Given the description of an element on the screen output the (x, y) to click on. 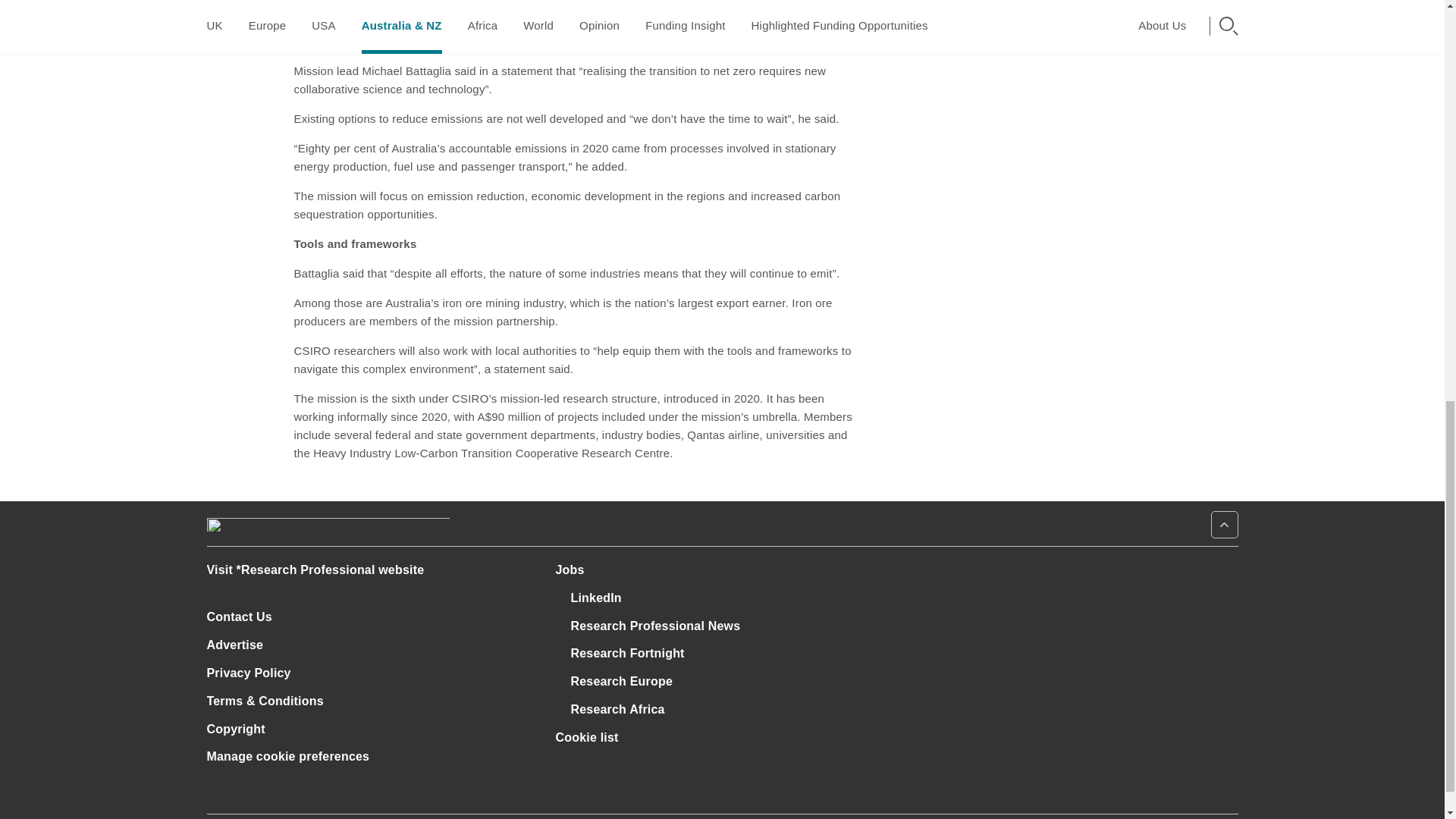
Copyright (235, 728)
Manage cookies (287, 756)
Contact Us (245, 616)
Advertise (241, 644)
Privacy Policy (255, 672)
